Given the description of an element on the screen output the (x, y) to click on. 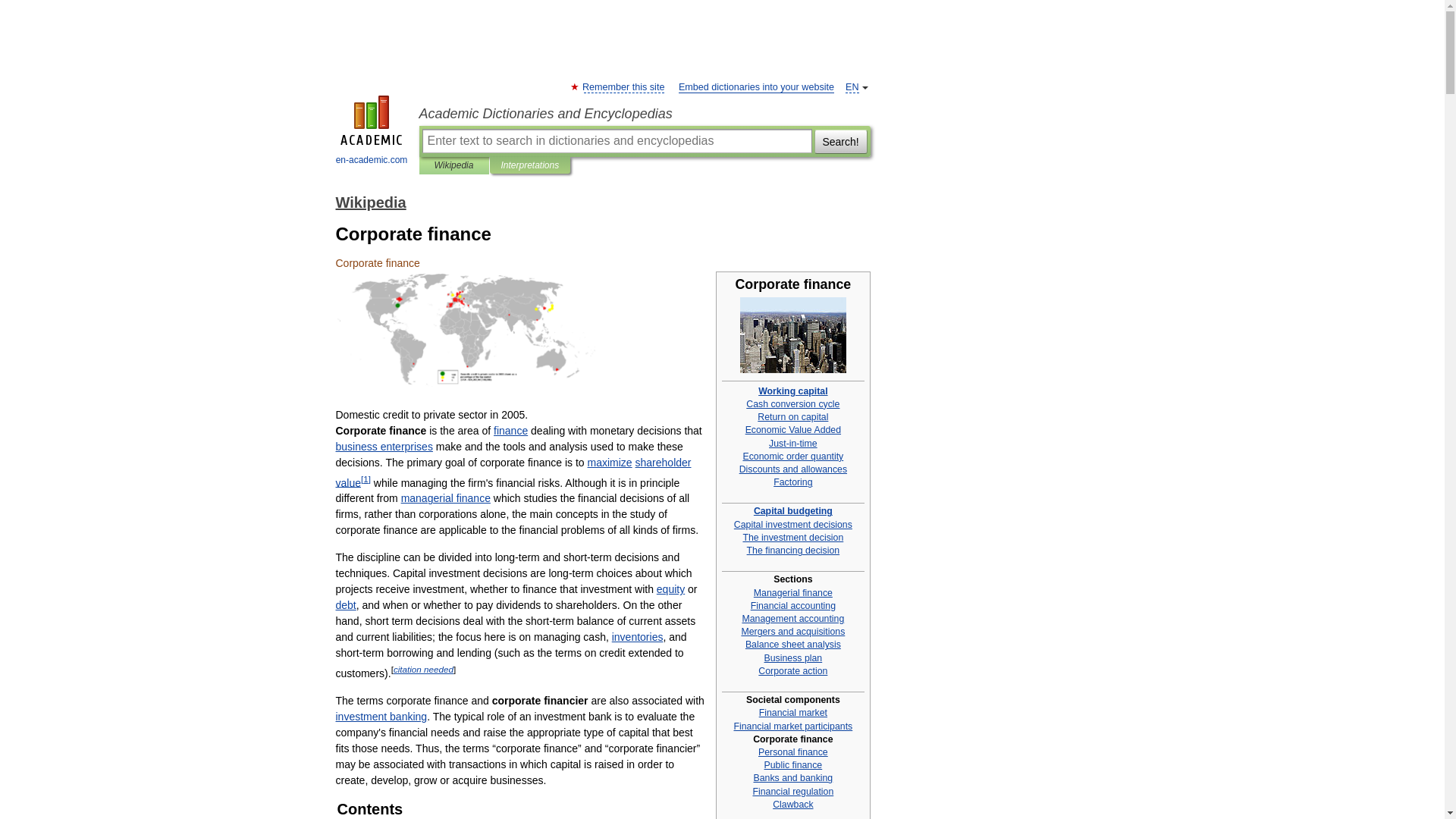
Return on capital (792, 416)
Managerial finance (793, 592)
en-academic.com (371, 131)
Just-in-time (792, 443)
Economic Value Added (793, 429)
Economic order quantity (792, 456)
EN (852, 87)
Interpretations (529, 165)
Wikipedia (453, 165)
The investment decision (792, 537)
Cash conversion cycle (792, 403)
Embed dictionaries into your website (756, 87)
Management accounting (792, 618)
Remember this site (623, 87)
